Given the description of an element on the screen output the (x, y) to click on. 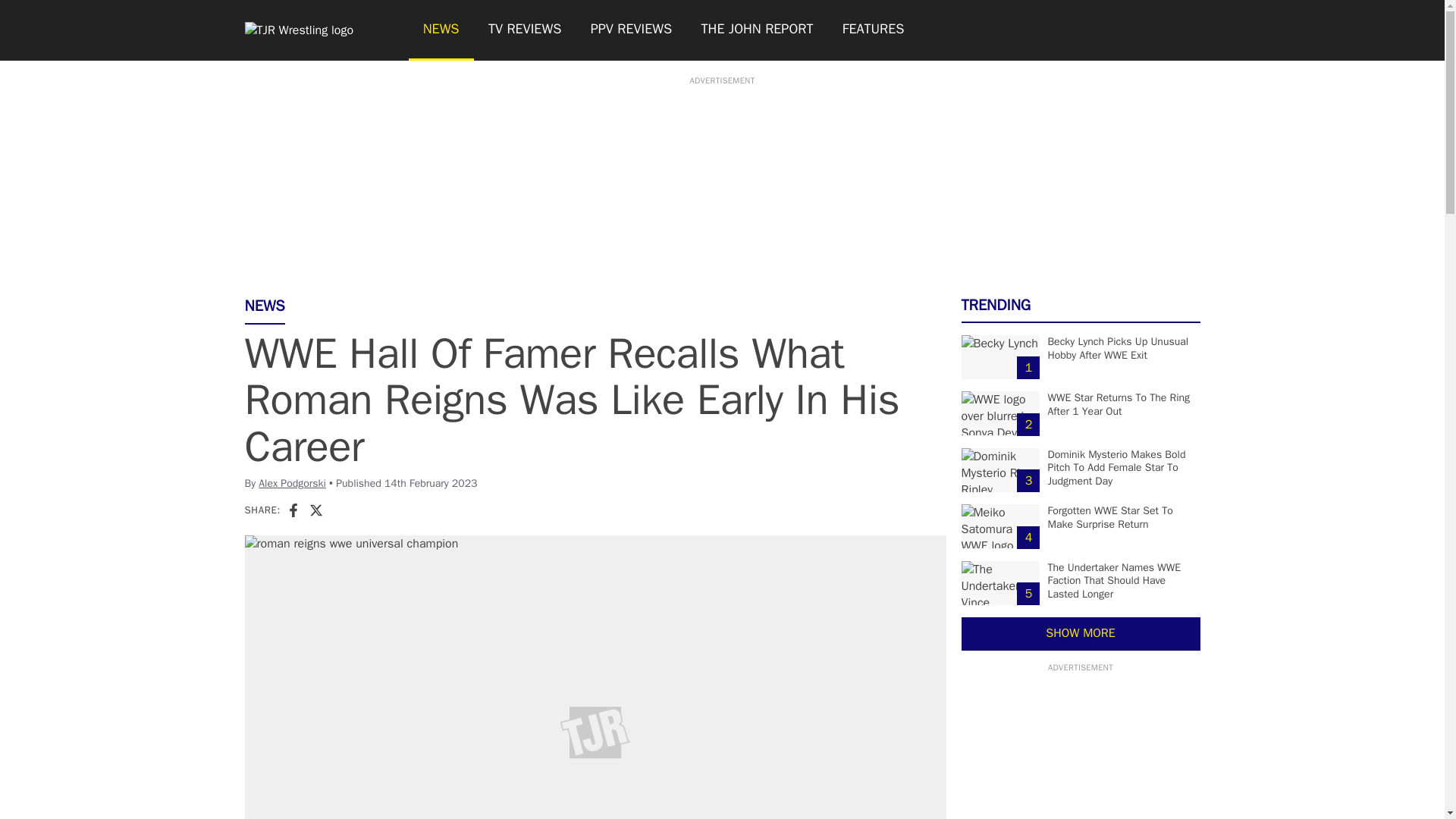
Facebook (292, 509)
NEWS (440, 30)
Facebook (292, 509)
FEATURES (873, 30)
TV REVIEWS (525, 30)
X (315, 509)
PPV REVIEWS (631, 30)
THE JOHN REPORT (756, 30)
Alex Podgorski (292, 482)
X (315, 509)
